Given the description of an element on the screen output the (x, y) to click on. 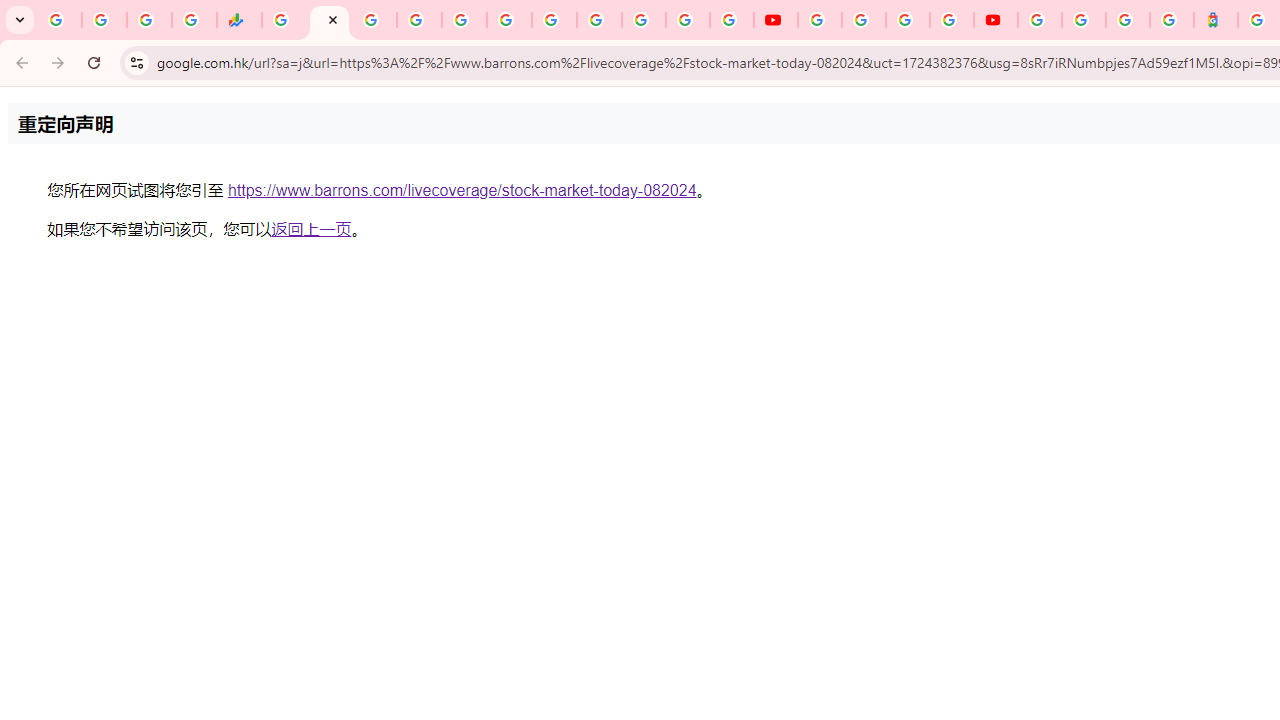
YouTube (775, 20)
Google Account Help (863, 20)
Atour Hotel - Google hotels (1215, 20)
YouTube (599, 20)
